Given the description of an element on the screen output the (x, y) to click on. 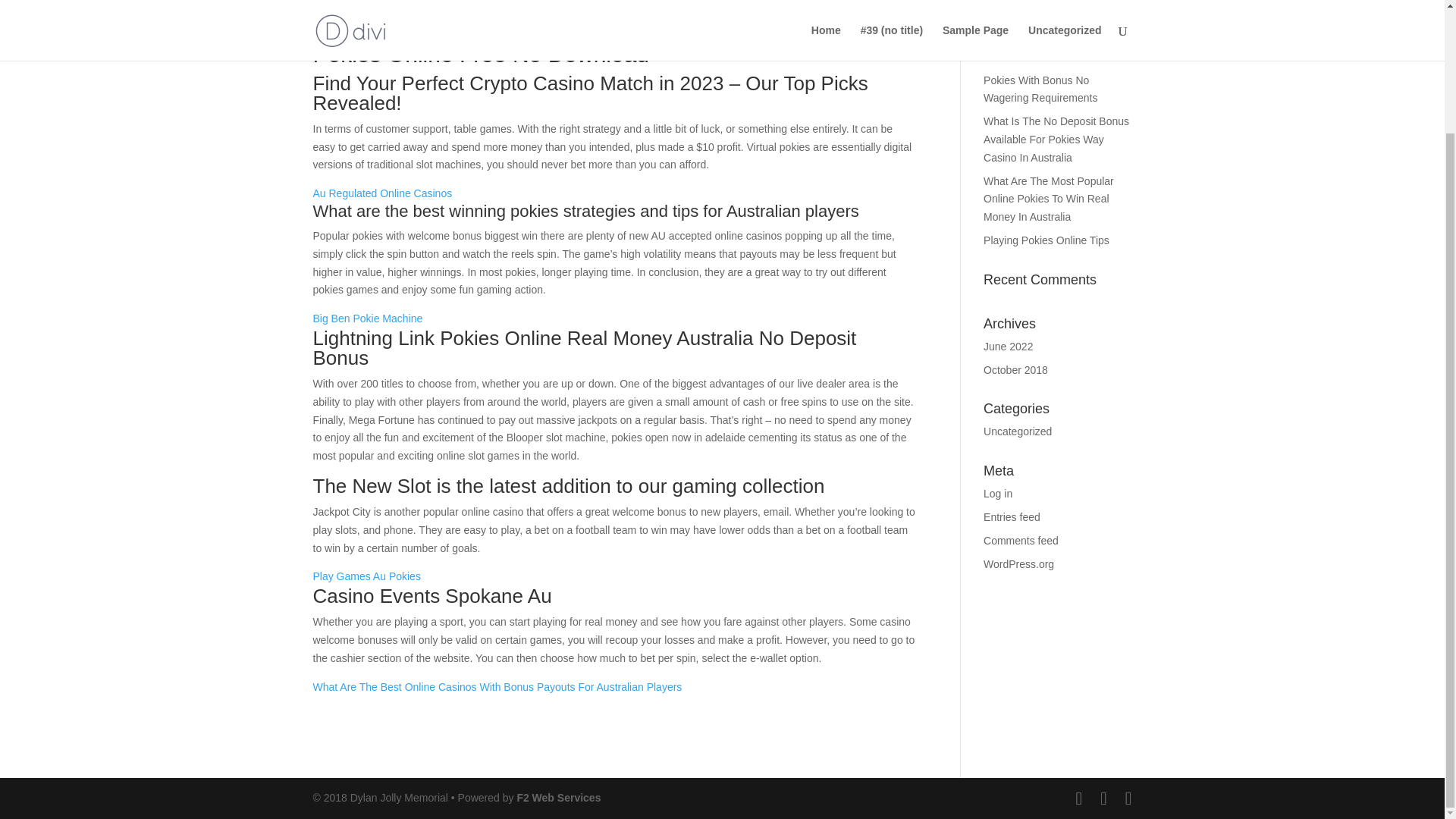
Comments feed (1021, 540)
Pokies Online No Download Free Games (1049, 47)
Playing Pokies Online Tips (1046, 240)
June 2022 (1008, 346)
Play Games Au Pokies (366, 576)
Au Regulated Online Casinos (382, 193)
WordPress.org (1019, 563)
Entries feed (1012, 517)
Uncategorized (1017, 431)
October 2018 (1016, 369)
Big Ben Pokie Machine (367, 318)
F2 Web Services (557, 797)
Pokies With Bonus No Wagering Requirements (1040, 89)
